Given the description of an element on the screen output the (x, y) to click on. 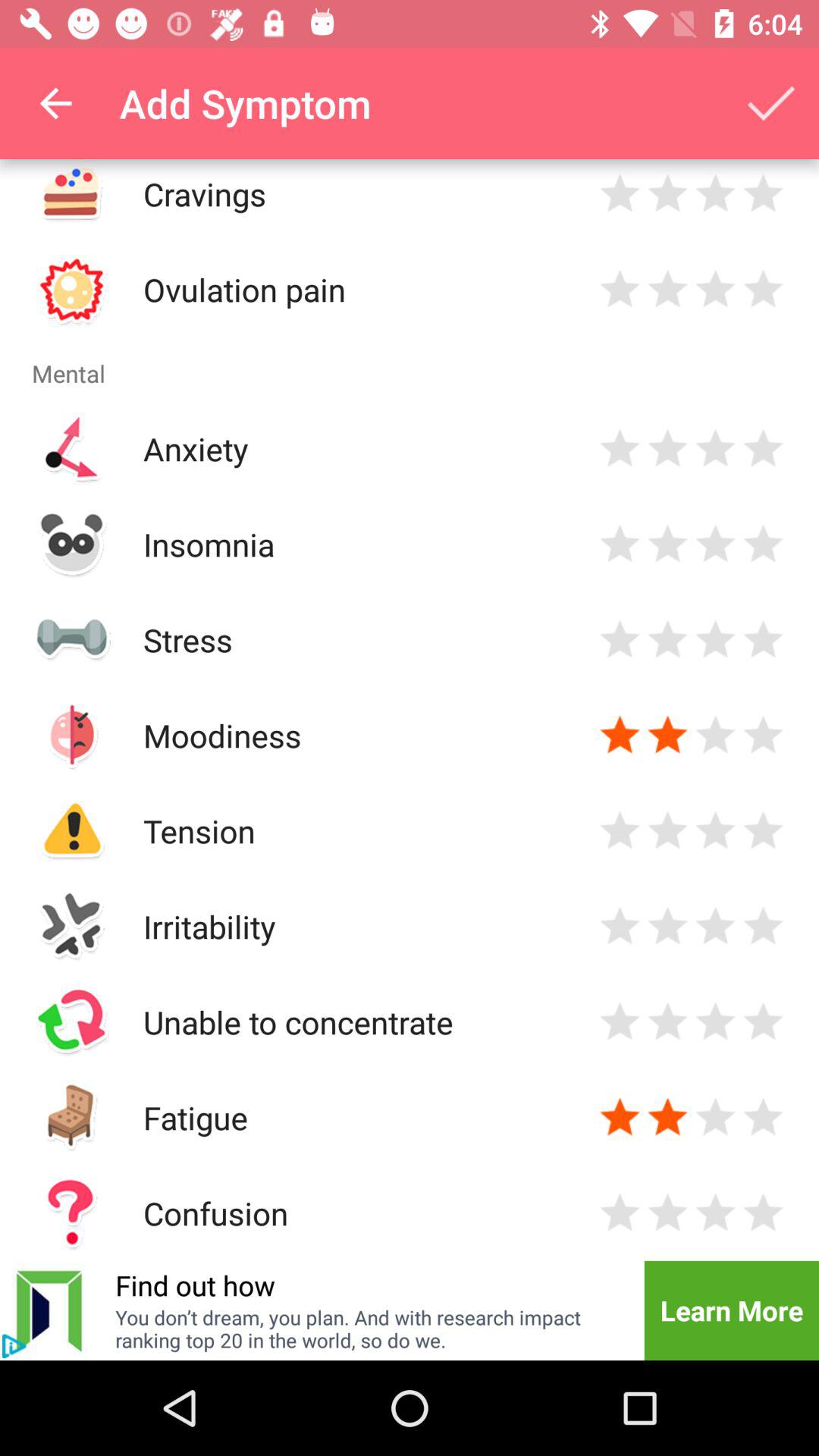
assign star rating (667, 1021)
